Given the description of an element on the screen output the (x, y) to click on. 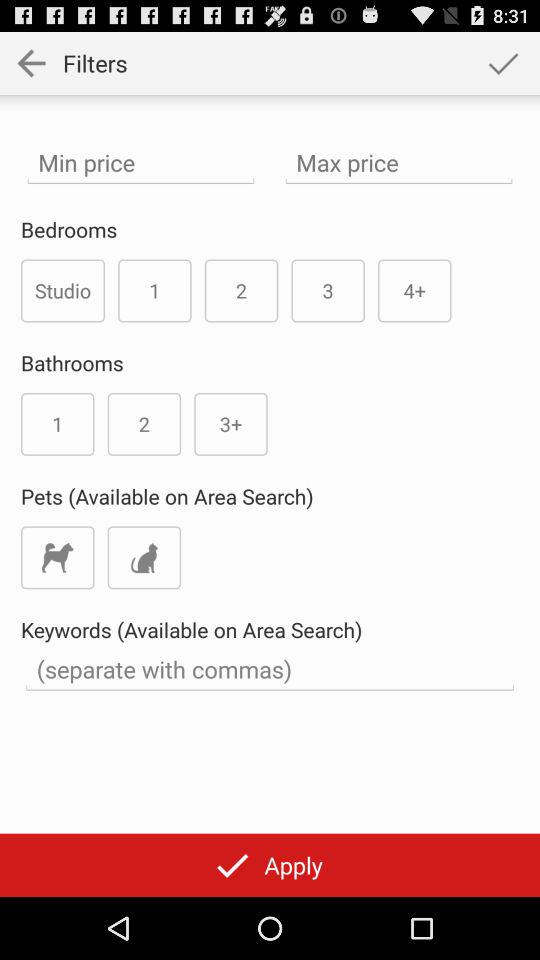
toggle pet option dog (57, 557)
